Given the description of an element on the screen output the (x, y) to click on. 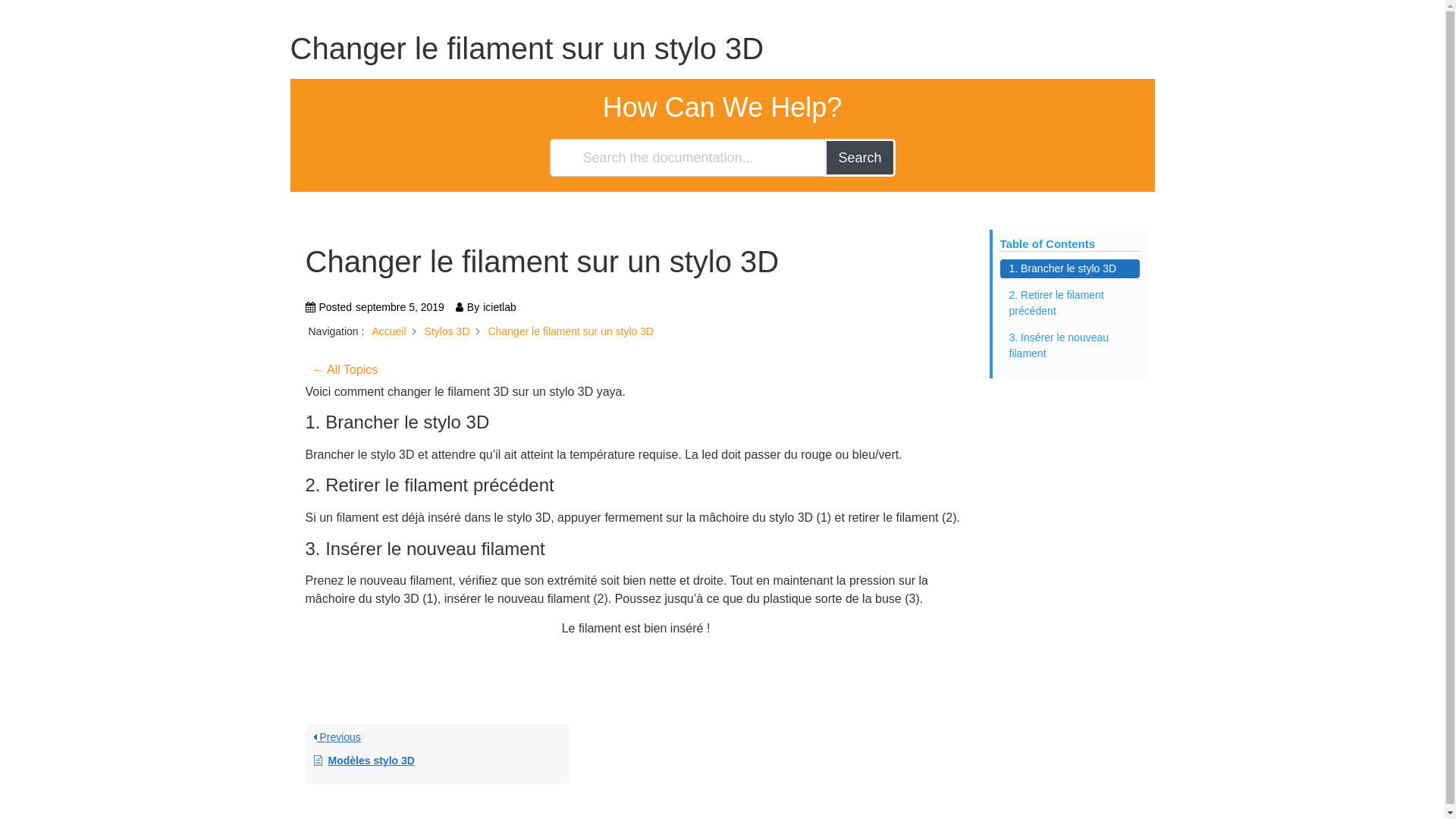
Stylos 3D Element type: text (447, 331)
Search Element type: text (859, 157)
1. Brancher le stylo 3D Element type: text (1069, 268)
Accueil Element type: text (388, 331)
